Given the description of an element on the screen output the (x, y) to click on. 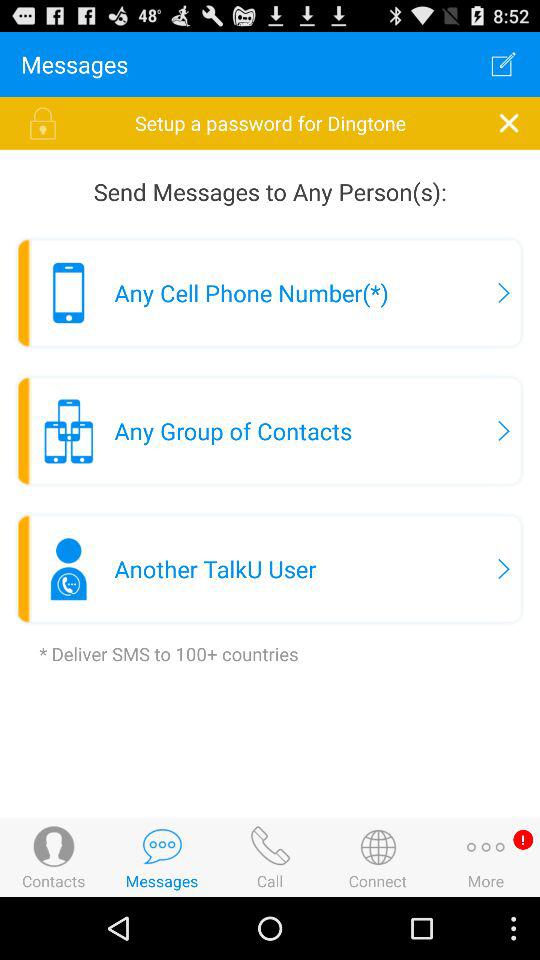
turn on item next to the messages (503, 63)
